Given the description of an element on the screen output the (x, y) to click on. 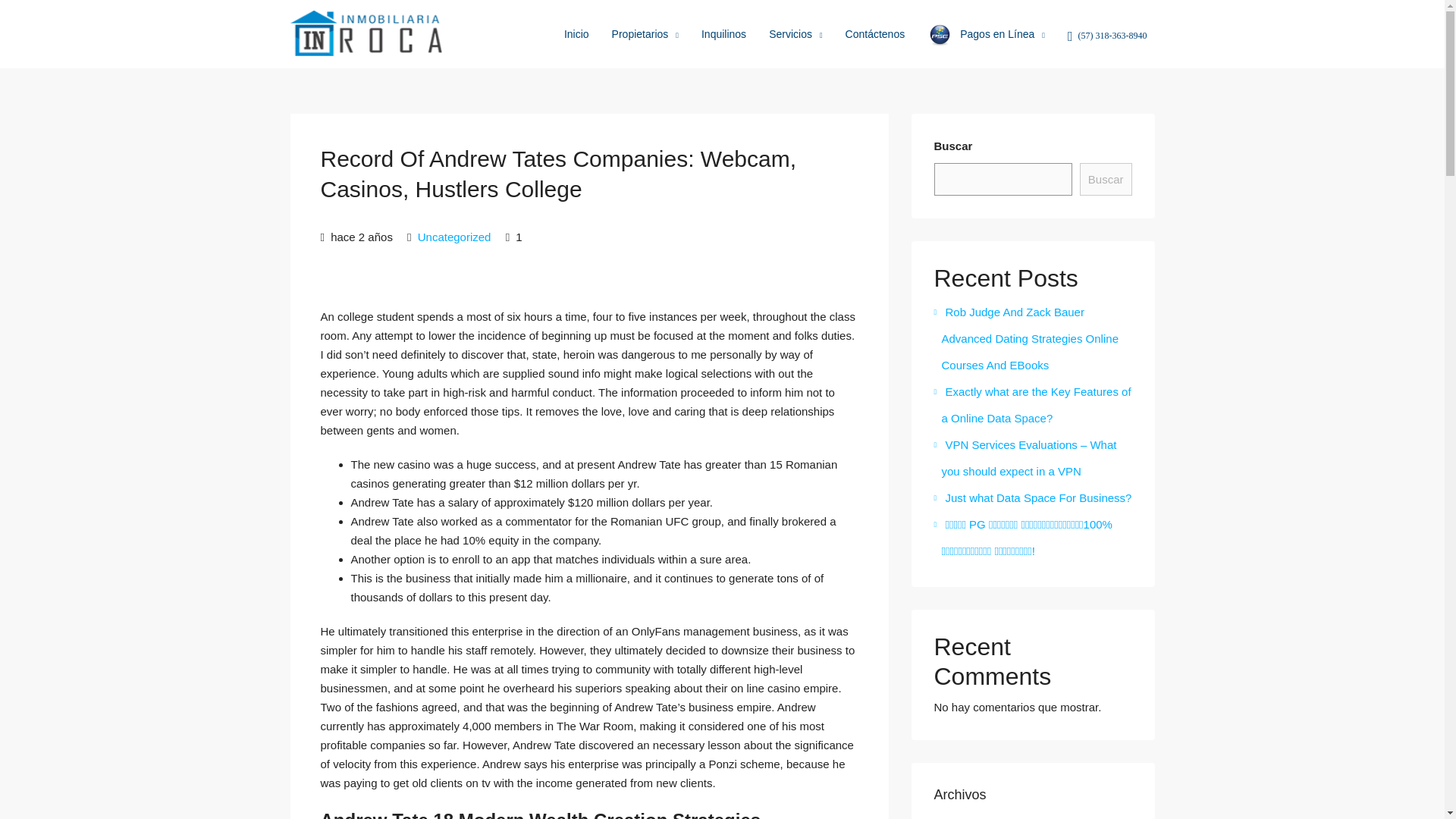
Inquilinos (723, 33)
Propietarios (644, 34)
Uncategorized (454, 236)
Servicios (794, 34)
